Given the description of an element on the screen output the (x, y) to click on. 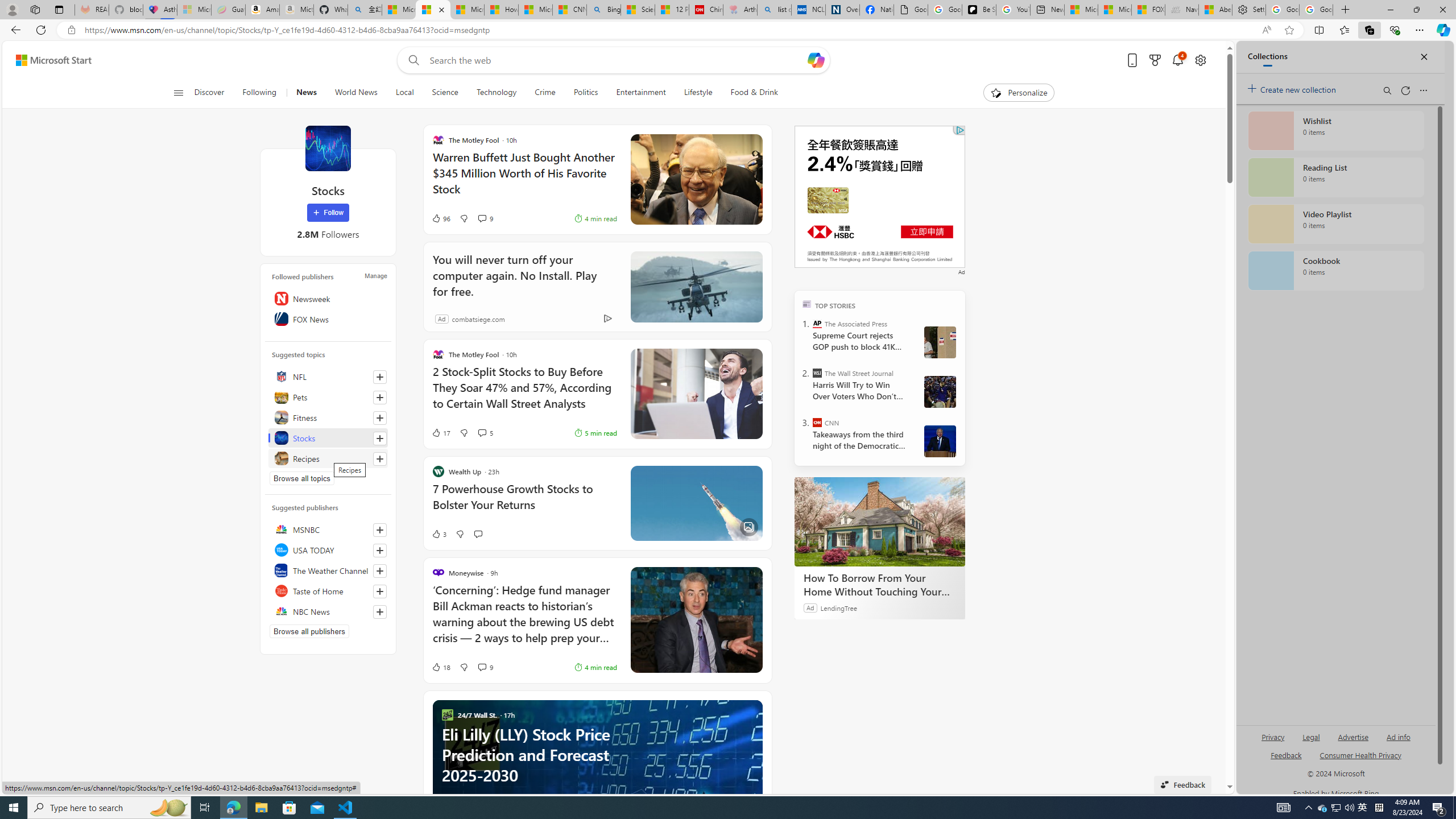
FOX News (327, 318)
Fitness (327, 417)
Pets (327, 397)
Asthma Inhalers: Names and Types (160, 9)
